Given the description of an element on the screen output the (x, y) to click on. 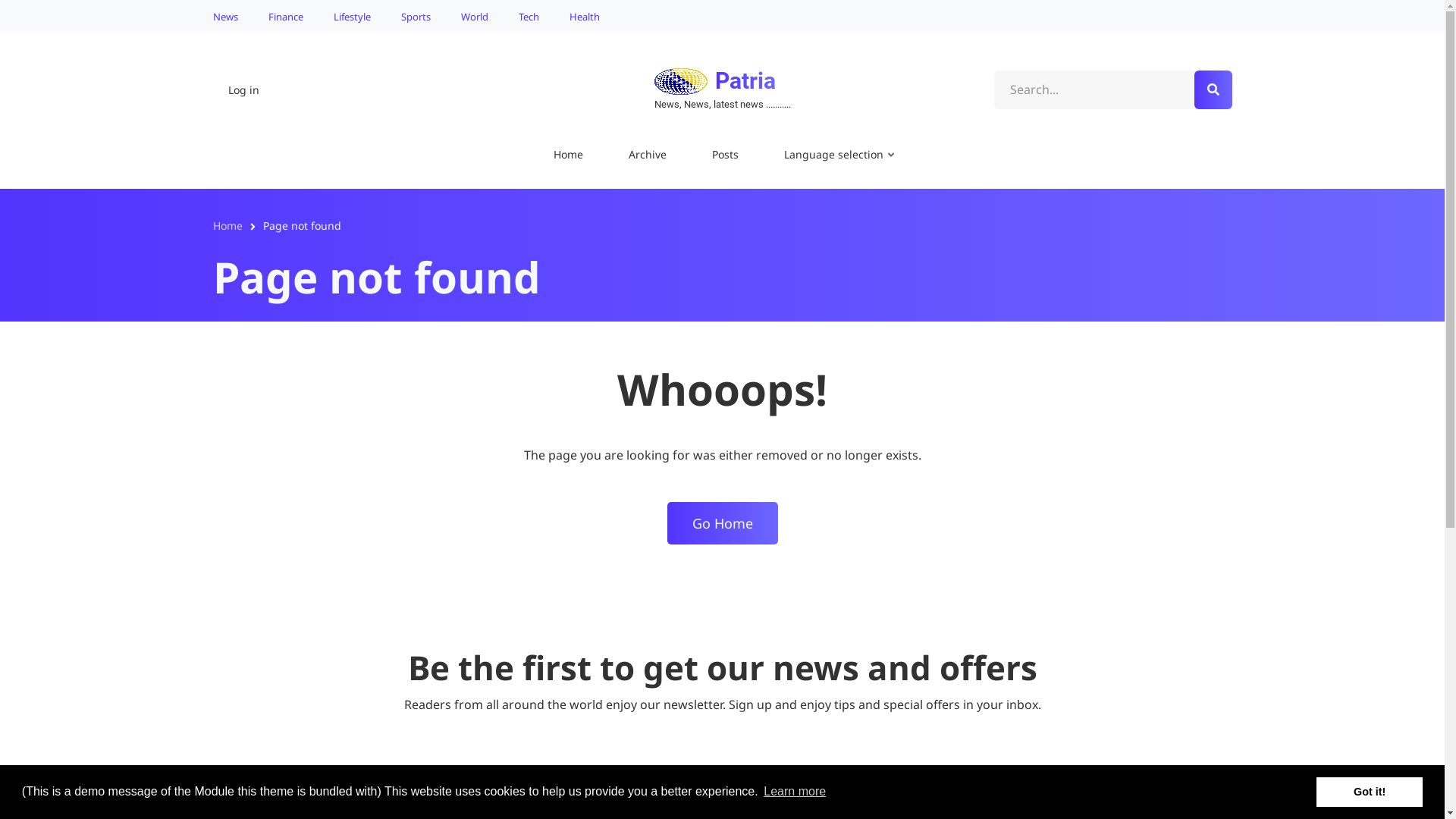
Sign Up Element type: text (880, 798)
Home Element type: text (568, 156)
Finance Element type: text (285, 15)
Enter the terms you wish to search for. Element type: hover (1113, 89)
Got it! Element type: text (1369, 791)
Health Element type: text (580, 15)
Search Element type: text (1212, 89)
Log in Element type: text (242, 90)
Home Element type: text (226, 225)
Skip to main content Element type: text (0, 0)
Sports Element type: text (414, 15)
Go Home Element type: text (722, 523)
Lifestyle Element type: text (352, 15)
Tech Element type: text (528, 15)
World Element type: text (474, 15)
News Element type: text (228, 15)
Archive Element type: text (647, 156)
Posts Element type: text (725, 156)
Home Element type: hover (679, 80)
Learn more Element type: text (794, 791)
Patria Element type: text (744, 80)
